Given the description of an element on the screen output the (x, y) to click on. 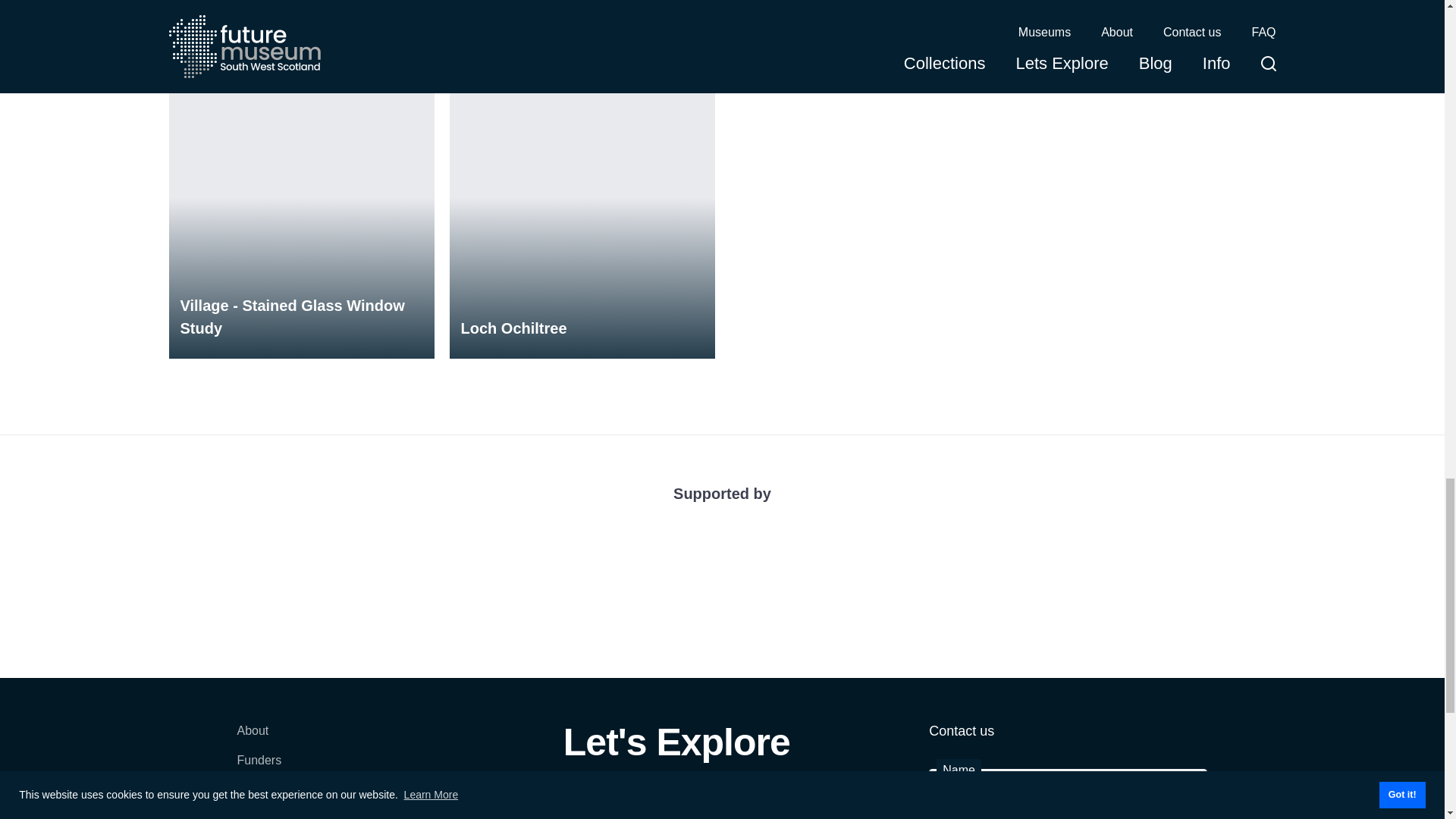
Unknown (300, 4)
Multimount, Studies of Birds (1142, 4)
